Given the description of an element on the screen output the (x, y) to click on. 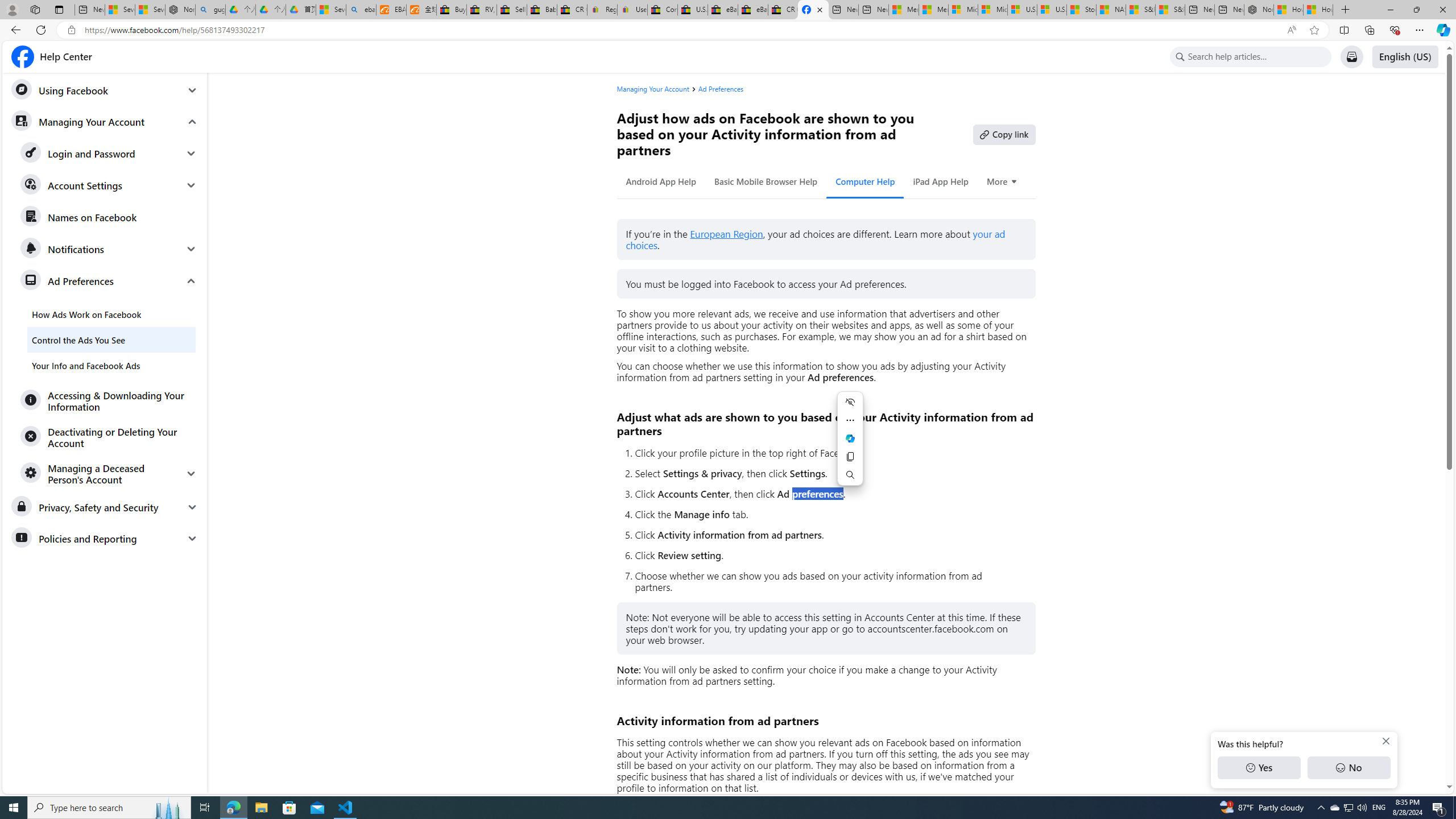
iPad App Help (940, 181)
Managing a Deceased Person's Account (108, 473)
eBay Inc. Reports Third Quarter 2023 Results (753, 9)
Managing a Deceased Person's Account Expand (109, 473)
Your Info and Facebook Ads (111, 365)
Your Info and Facebook Ads (111, 365)
More actions (850, 420)
Computer Help (865, 181)
Managing Your Account (656, 89)
